Given the description of an element on the screen output the (x, y) to click on. 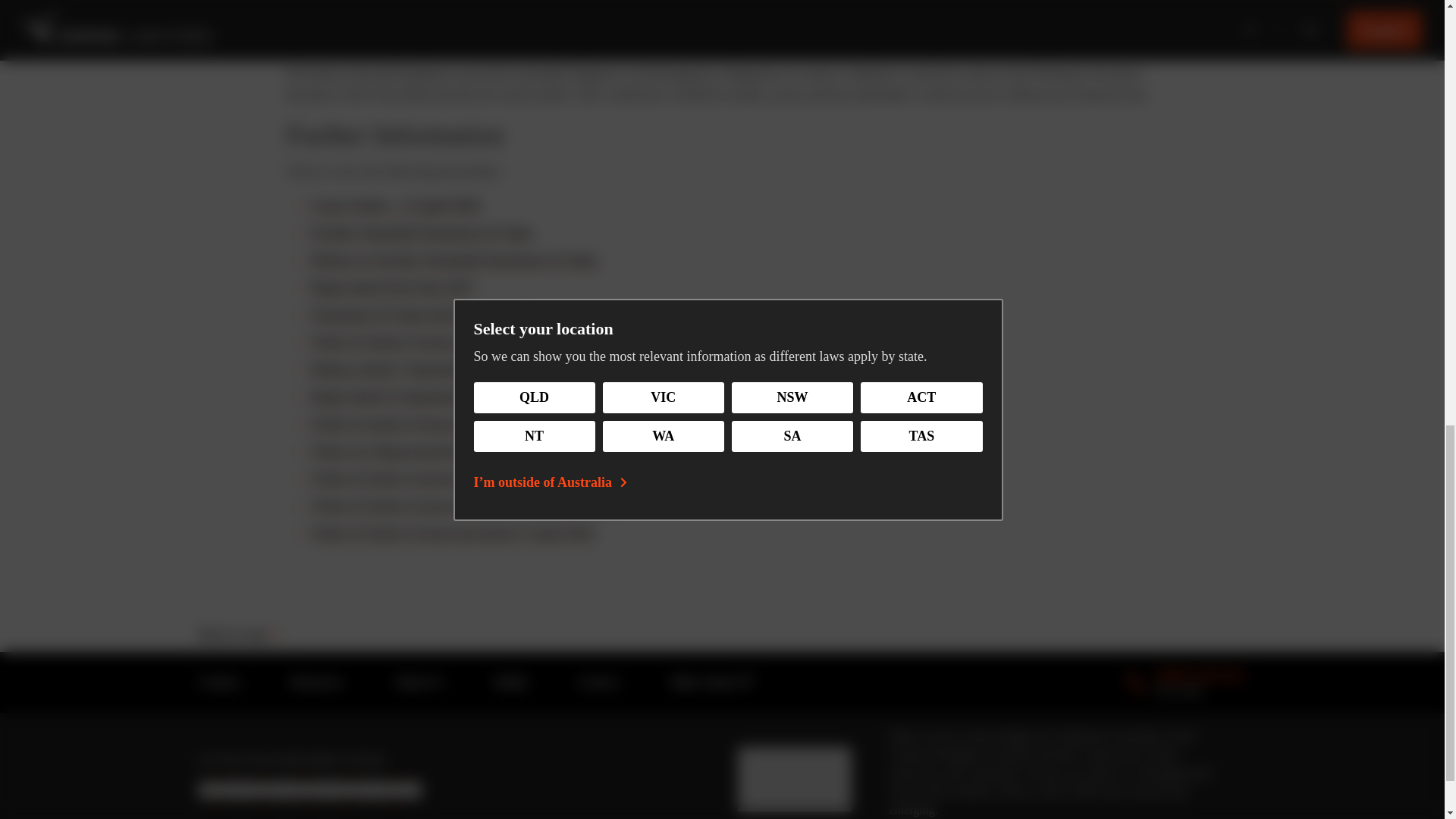
Further Amended Statement of Claim (421, 232)
Court Orders - 11 April 2018 (394, 204)
Contact (219, 681)
Reply dated 15 September 2015 (402, 396)
Defence dated 7 September 2015 (1185, 681)
Order of Justice Greenwood dated 27th July 2015 (405, 368)
Defence to Further Amended Statement of Claim (455, 341)
Careers (453, 259)
About Us (599, 681)
